Given the description of an element on the screen output the (x, y) to click on. 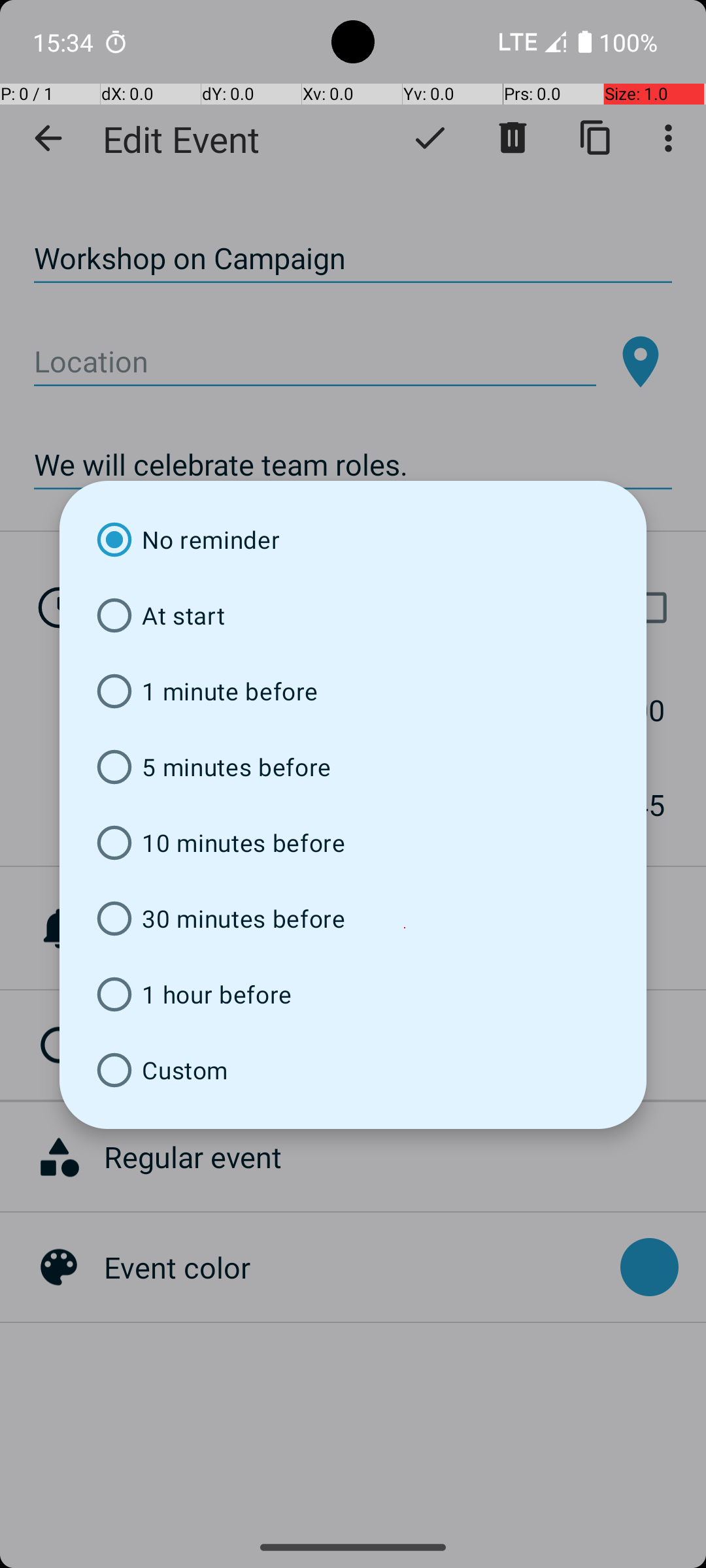
At start Element type: android.widget.RadioButton (352, 615)
1 minute before Element type: android.widget.RadioButton (352, 691)
5 minutes before Element type: android.widget.RadioButton (352, 766)
30 minutes before Element type: android.widget.RadioButton (352, 918)
1 hour before Element type: android.widget.RadioButton (352, 994)
Custom Element type: android.widget.RadioButton (352, 1070)
